Given the description of an element on the screen output the (x, y) to click on. 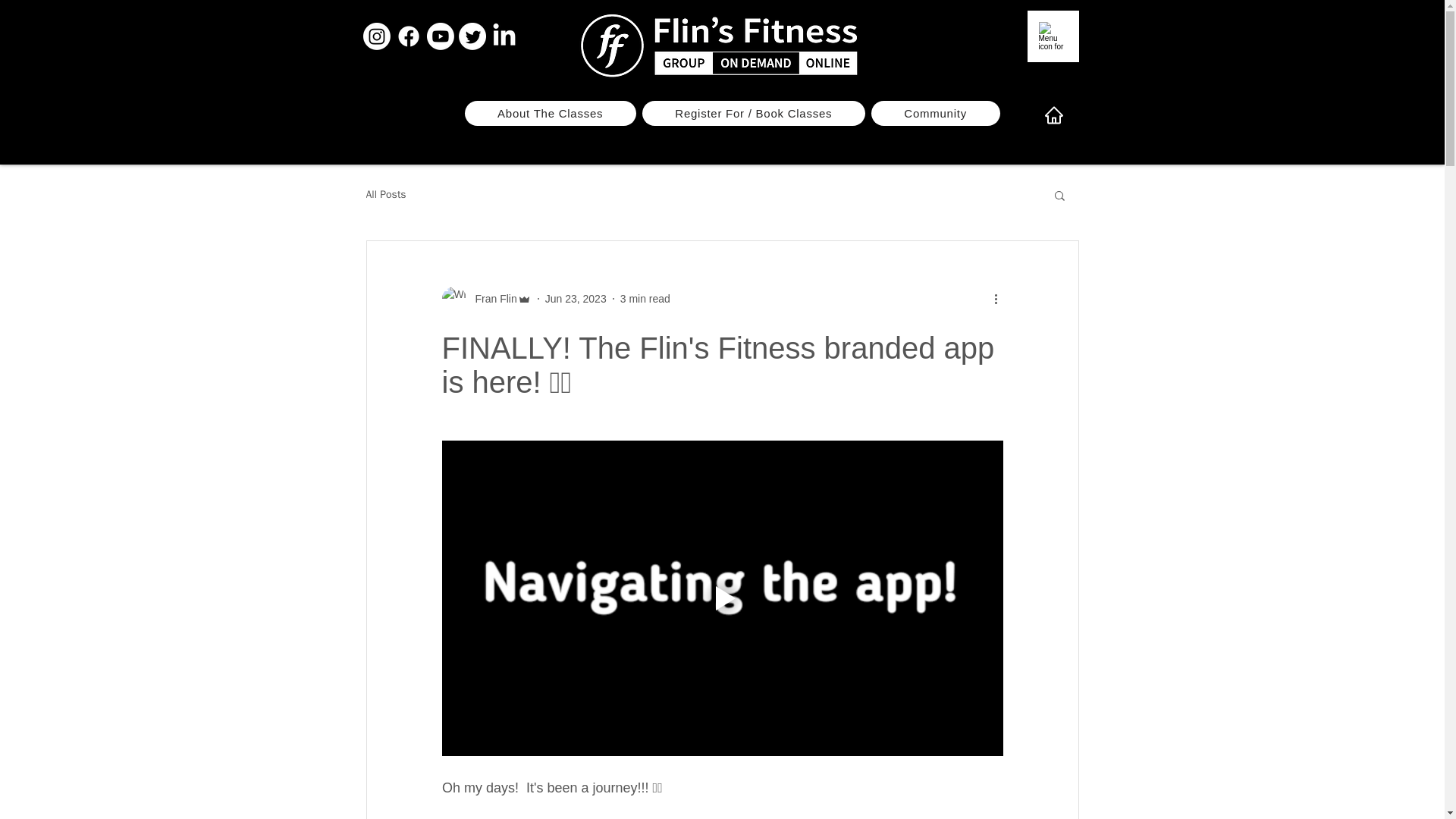
3 min read (644, 298)
Fran Flin (486, 298)
Fran Flin (490, 299)
About The Classes (549, 113)
All Posts (385, 194)
Jun 23, 2023 (575, 298)
